Given the description of an element on the screen output the (x, y) to click on. 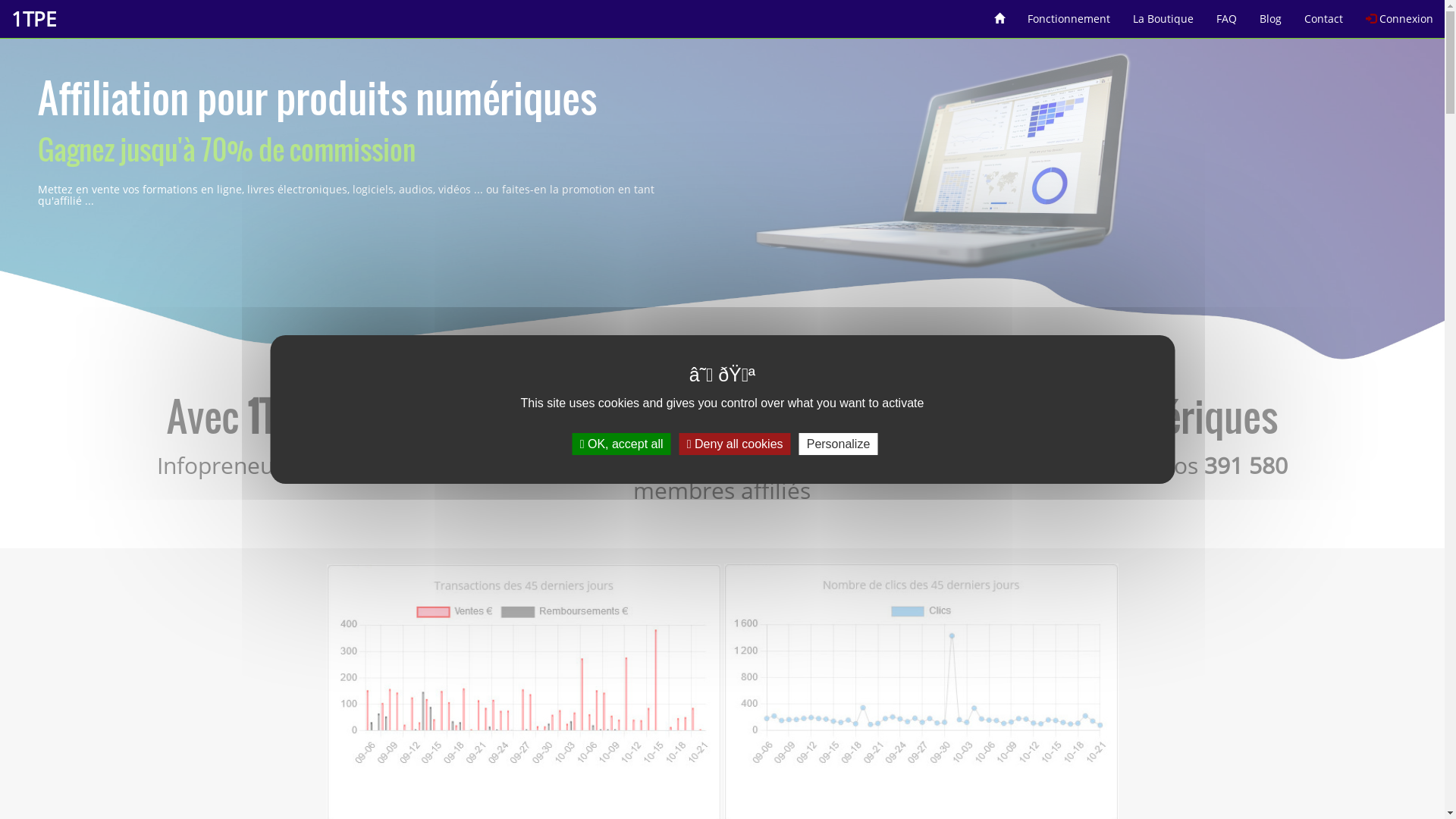
Connexion Element type: text (1399, 13)
Fonctionnement Element type: text (1068, 13)
1TPE Element type: text (33, 18)
Contact Element type: text (1323, 13)
FAQ Element type: text (1226, 13)
La Boutique Element type: text (1162, 13)
Blog Element type: text (1270, 13)
